Given the description of an element on the screen output the (x, y) to click on. 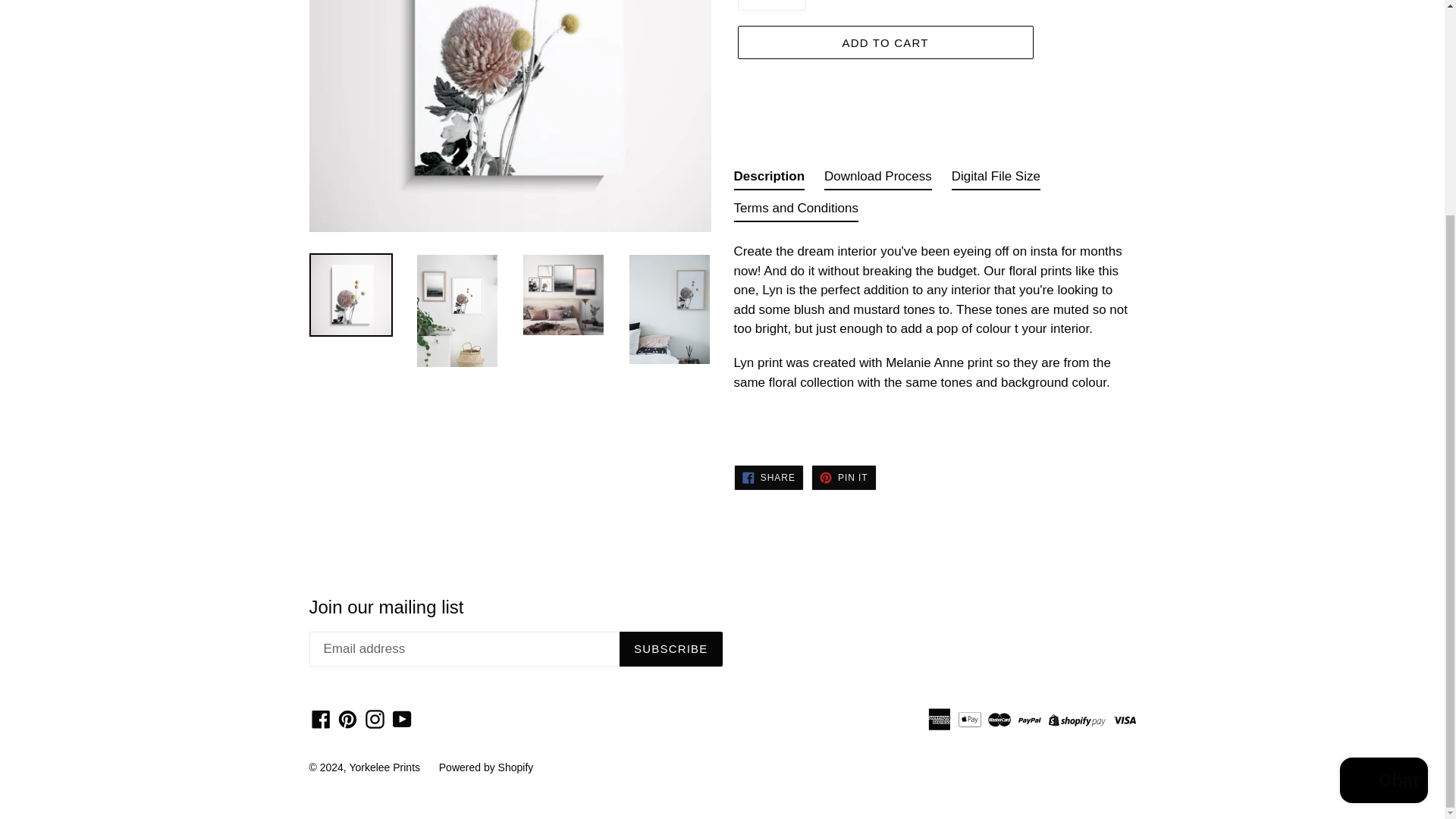
Yorkelee Prints on YouTube (401, 718)
Pin on Pinterest (843, 477)
Yorkelee Prints on Pinterest (347, 718)
Share on Facebook (768, 477)
Yorkelee Prints on Instagram (374, 718)
Shopify online store chat (1383, 499)
1 (770, 5)
Yorkelee Prints on Facebook (320, 718)
